Given the description of an element on the screen output the (x, y) to click on. 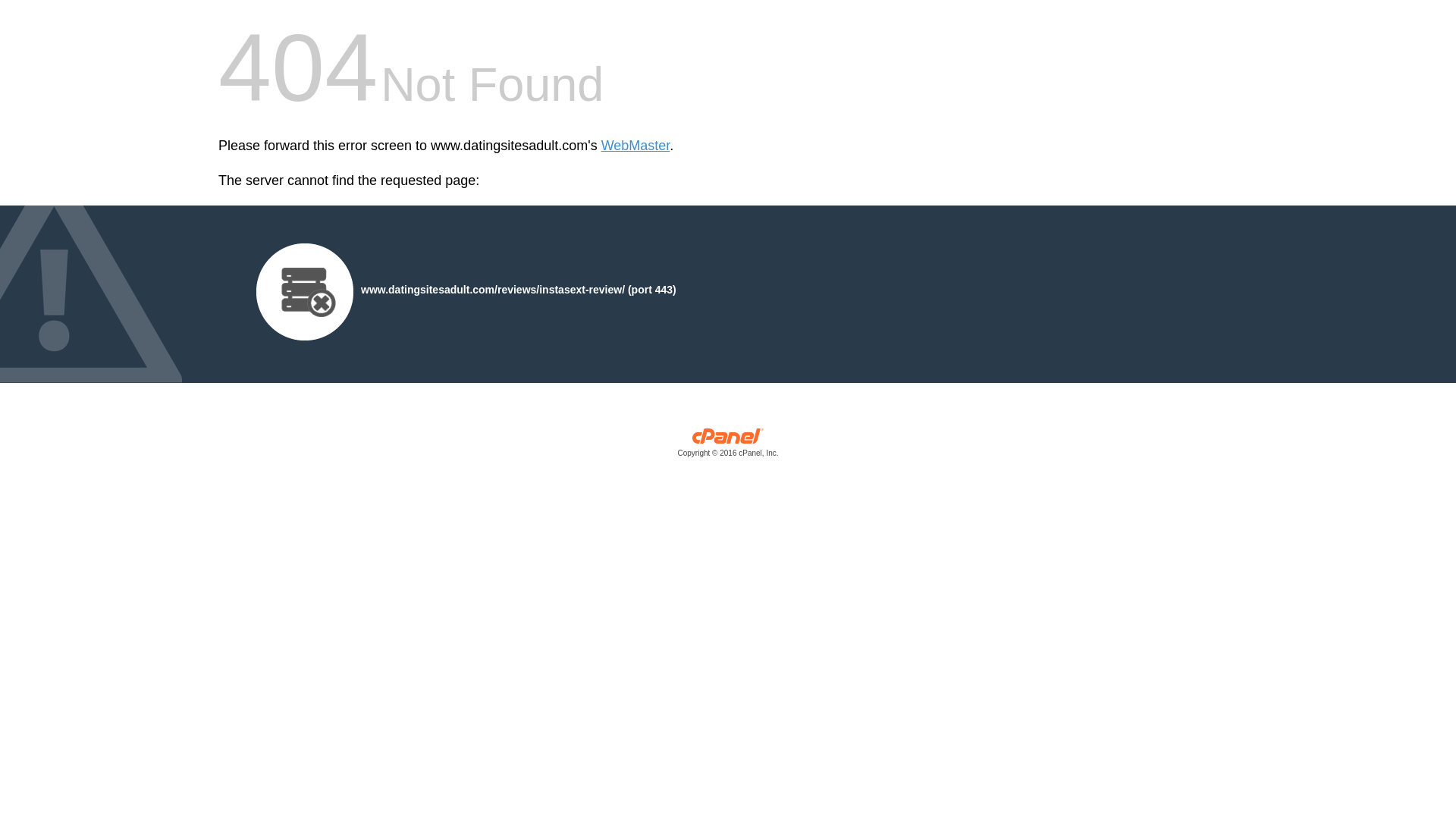
WebMaster (635, 145)
cPanel, Inc. (727, 446)
